Given the description of an element on the screen output the (x, y) to click on. 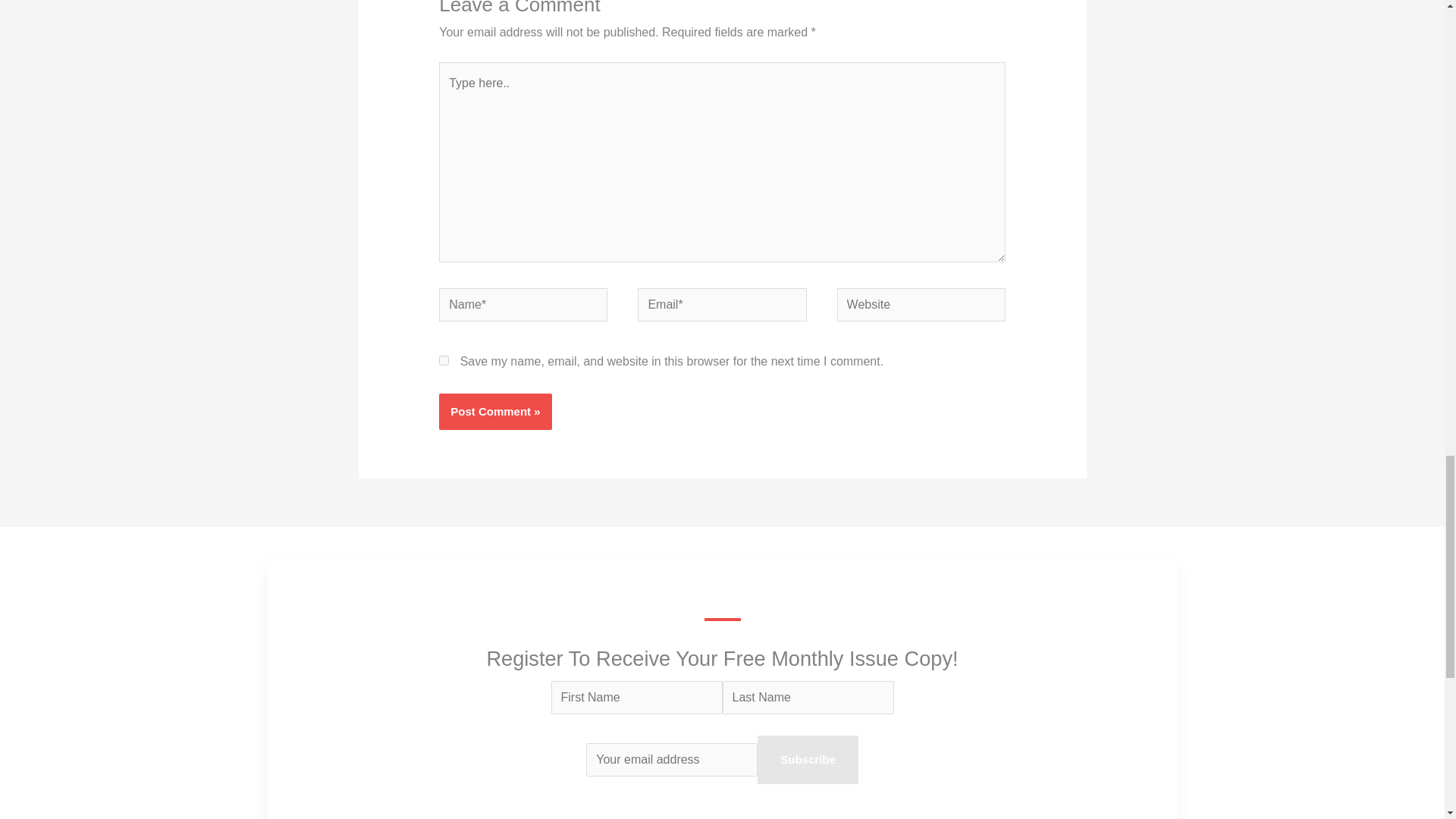
Subscribe (808, 759)
yes (443, 360)
Subscribe (808, 759)
